Given the description of an element on the screen output the (x, y) to click on. 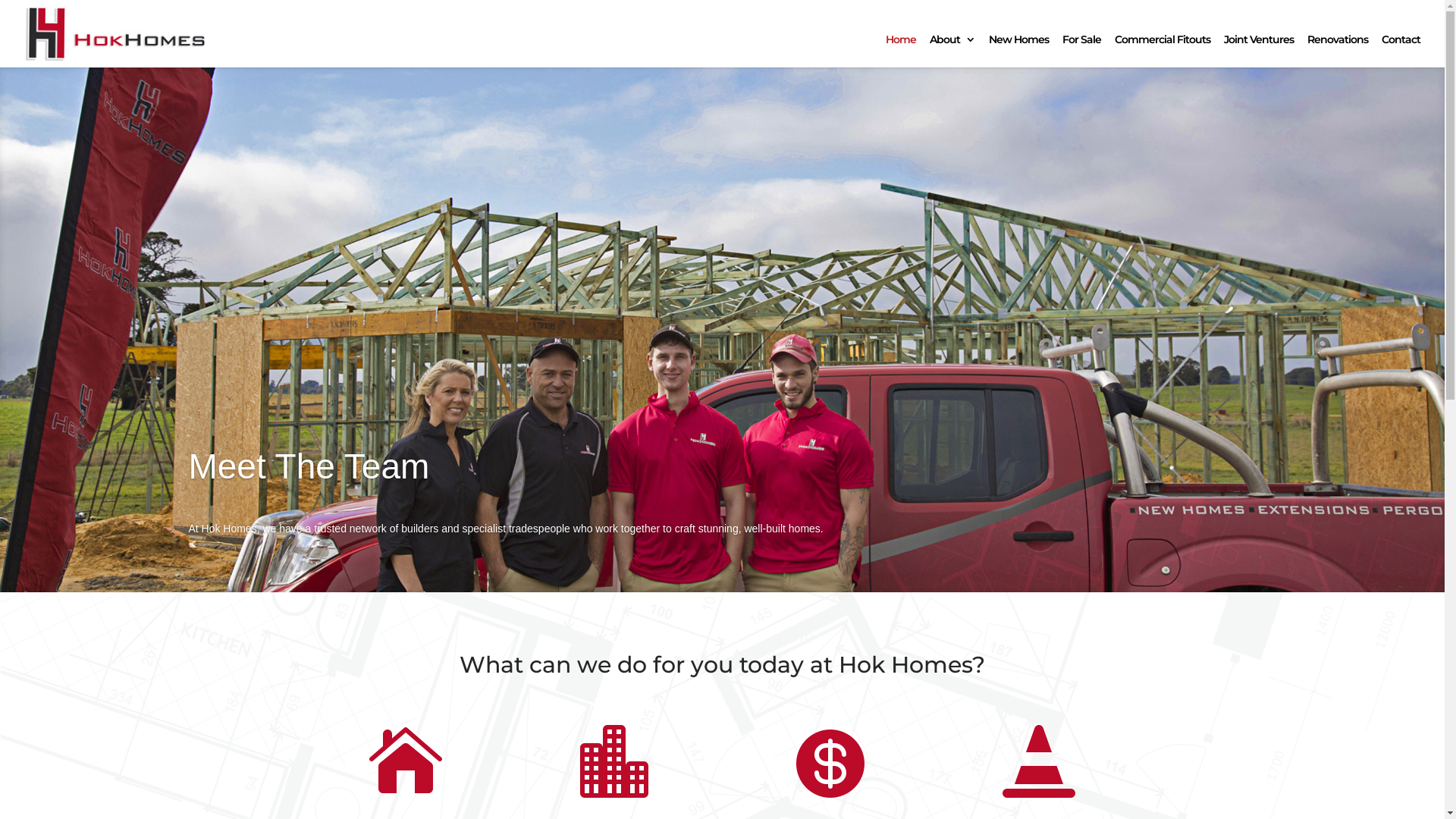
For Sale Element type: text (1081, 50)
About Element type: text (952, 50)
Contact Element type: text (1400, 50)
New Homes Element type: text (1018, 50)
Joint Ventures Element type: text (1258, 50)
Renovations Element type: text (1337, 50)
Commercial Fitouts Element type: text (1162, 50)
Home Element type: text (900, 50)
